Given the description of an element on the screen output the (x, y) to click on. 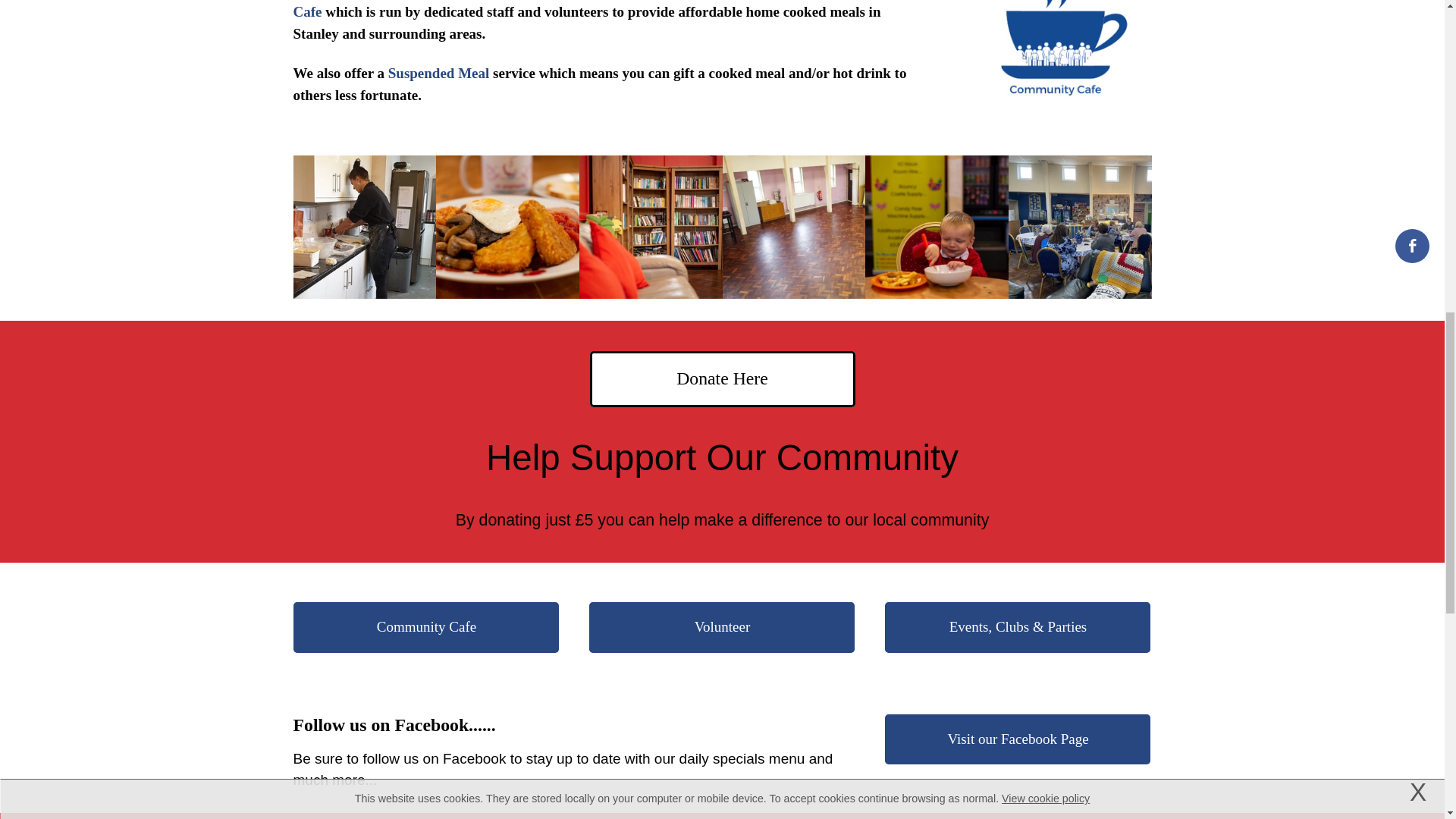
Community Cafe (587, 10)
Volunteer (721, 626)
Suspended Meal (438, 73)
Visit our Facebook Page (1017, 739)
Donate Here (722, 379)
Community Cafe (426, 626)
